Given the description of an element on the screen output the (x, y) to click on. 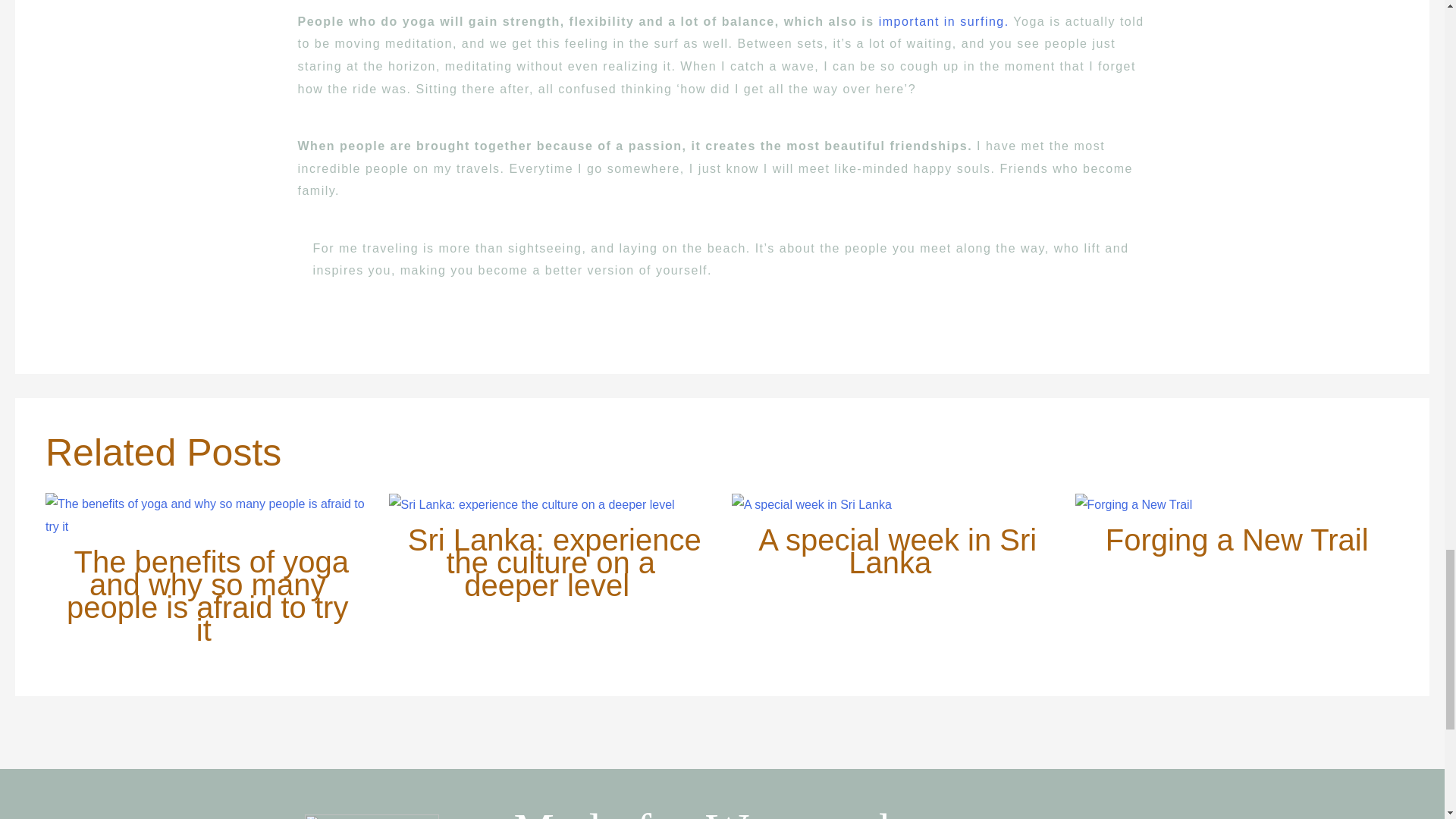
Sri Lanka: experience the culture on a deeper level (554, 562)
A special week in Sri Lanka (897, 551)
important in surfing.  (946, 21)
Forging a New Trail (1236, 539)
